Given the description of an element on the screen output the (x, y) to click on. 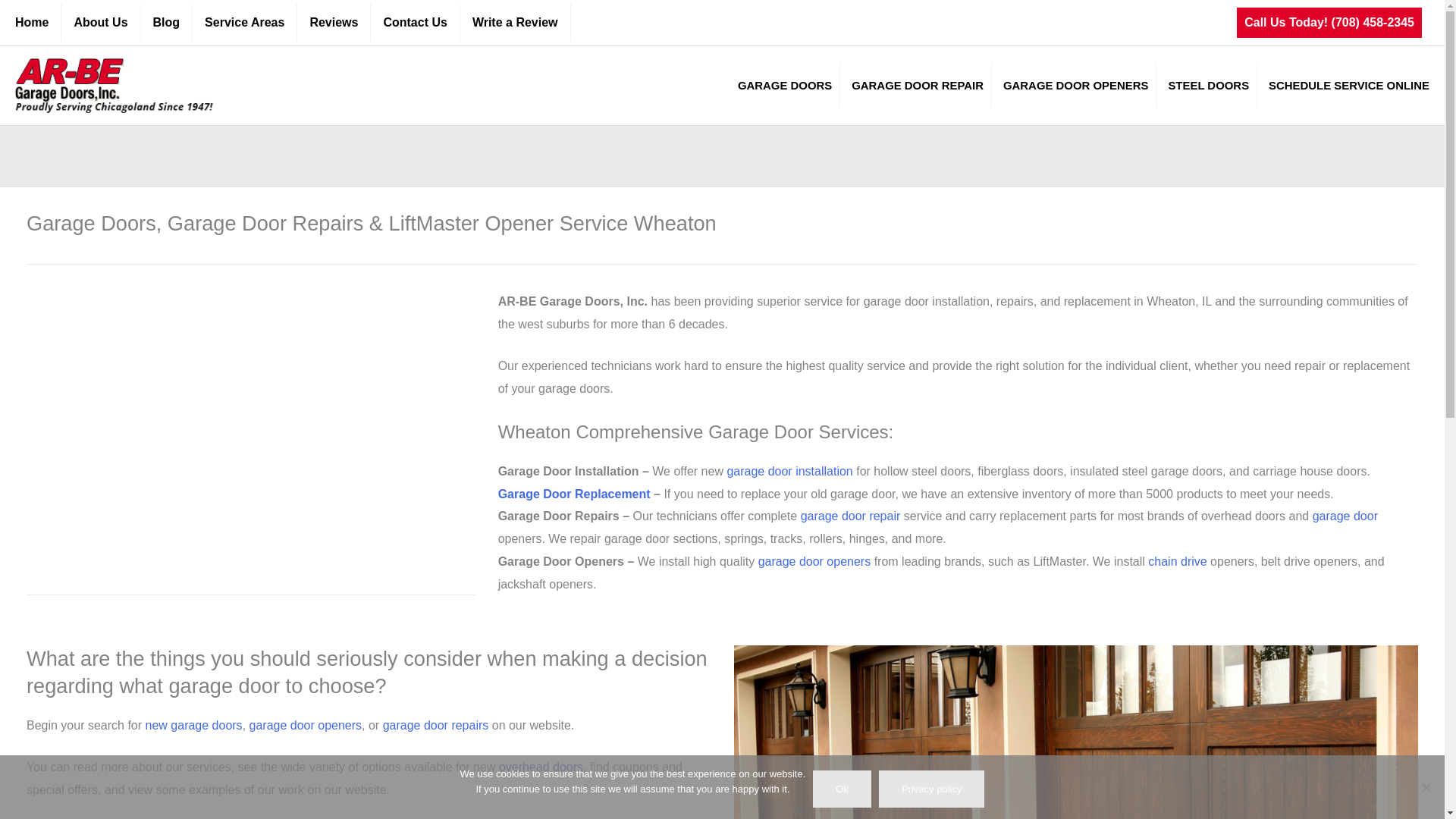
garage door repairs (435, 725)
AR-BE Garage Doors with Chicago Blackhawks Crawford, Bolland (251, 416)
GARAGE DOOR OPENERS (1073, 85)
Blog (166, 22)
garage door openers (814, 561)
No (1425, 786)
garage door openers (305, 725)
Reviews (333, 22)
Garage Door Replacement (573, 493)
chain drive (1177, 561)
Home (1030, 155)
Service Areas (244, 22)
Garage Doors (1099, 155)
garage door installation (788, 471)
Home (37, 22)
